Given the description of an element on the screen output the (x, y) to click on. 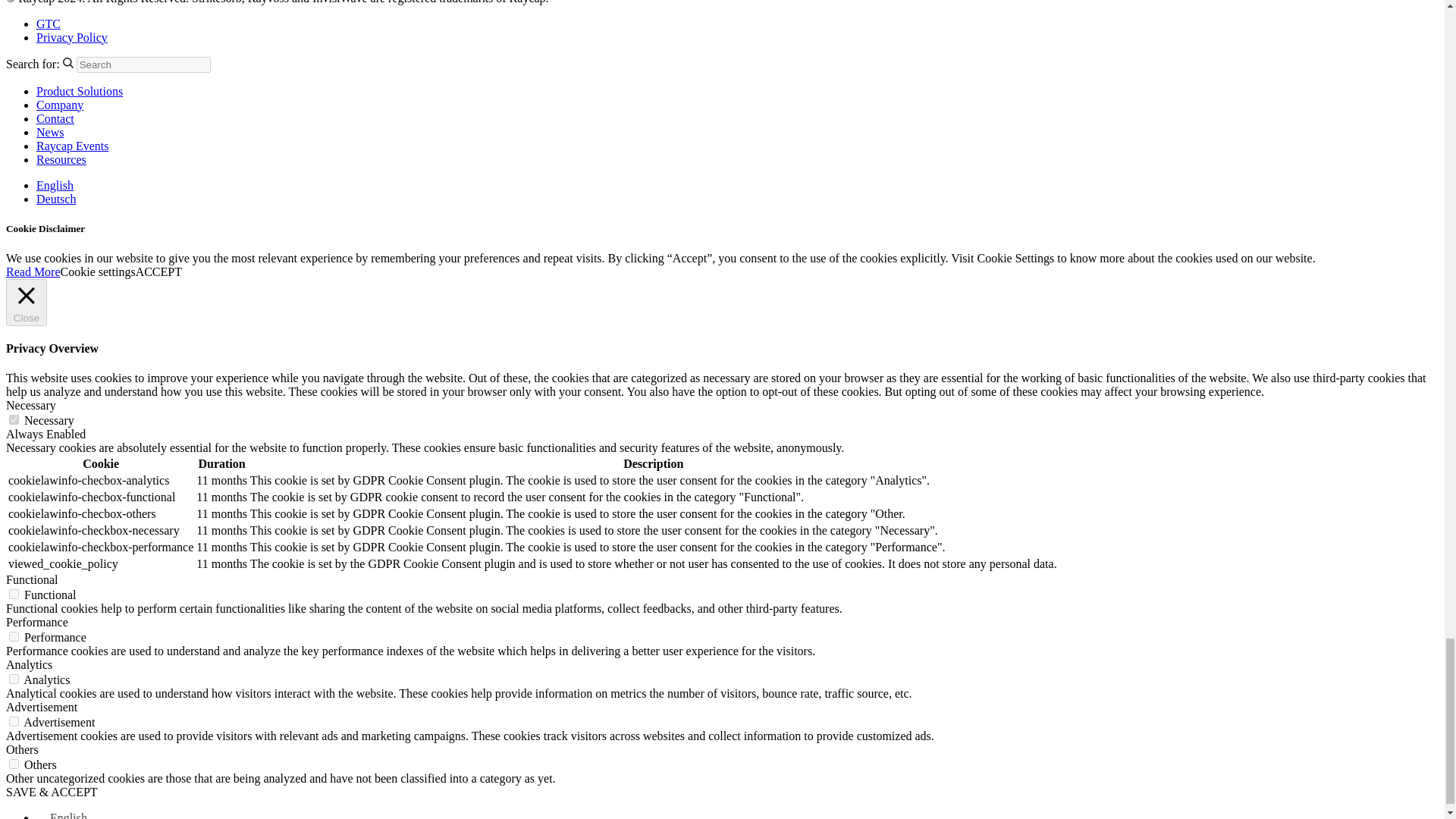
on (13, 764)
on (13, 721)
on (13, 678)
on (13, 593)
Fill 1 (68, 62)
on (13, 419)
on (13, 636)
